Given the description of an element on the screen output the (x, y) to click on. 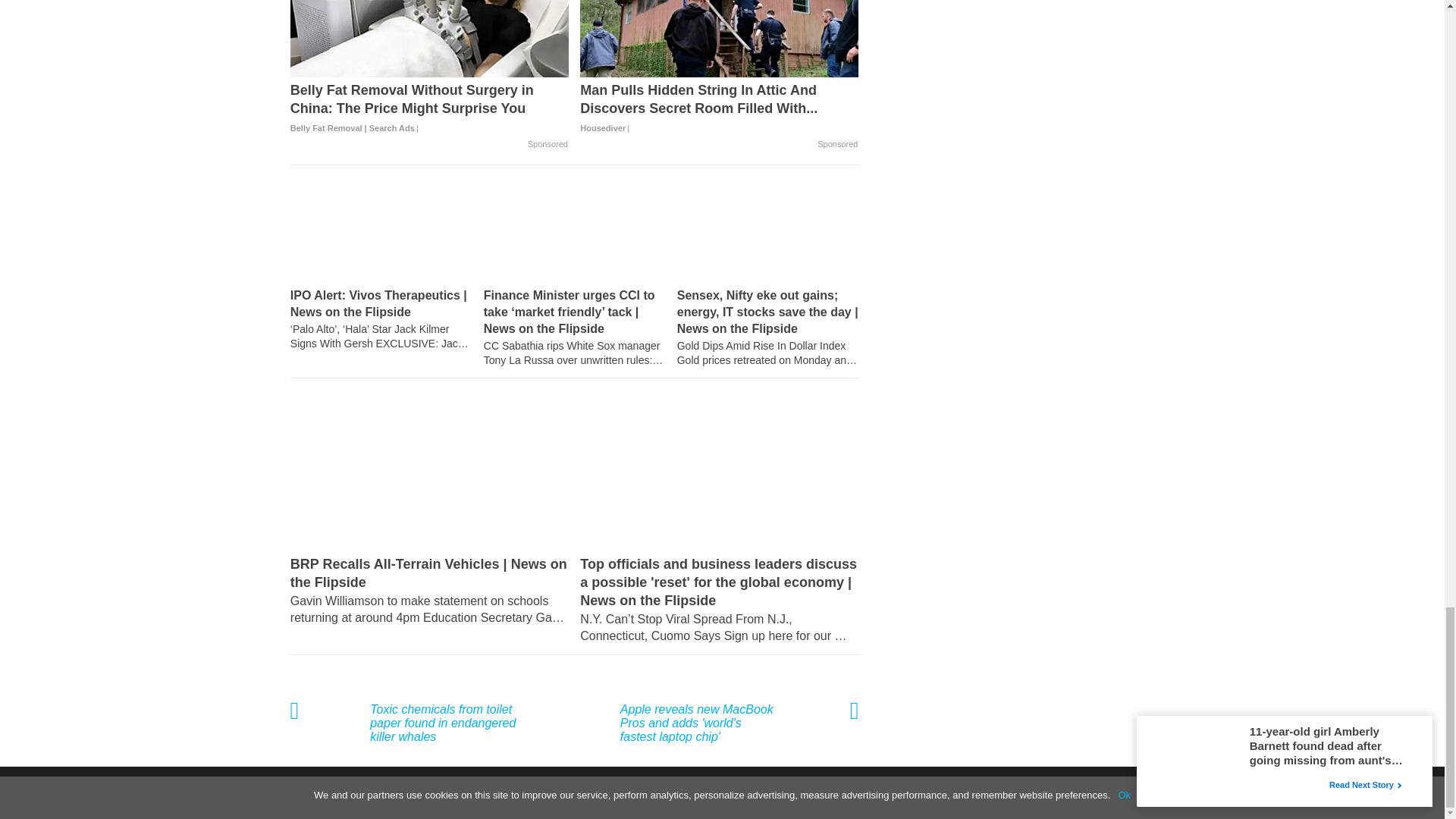
Sponsored (547, 144)
